Given the description of an element on the screen output the (x, y) to click on. 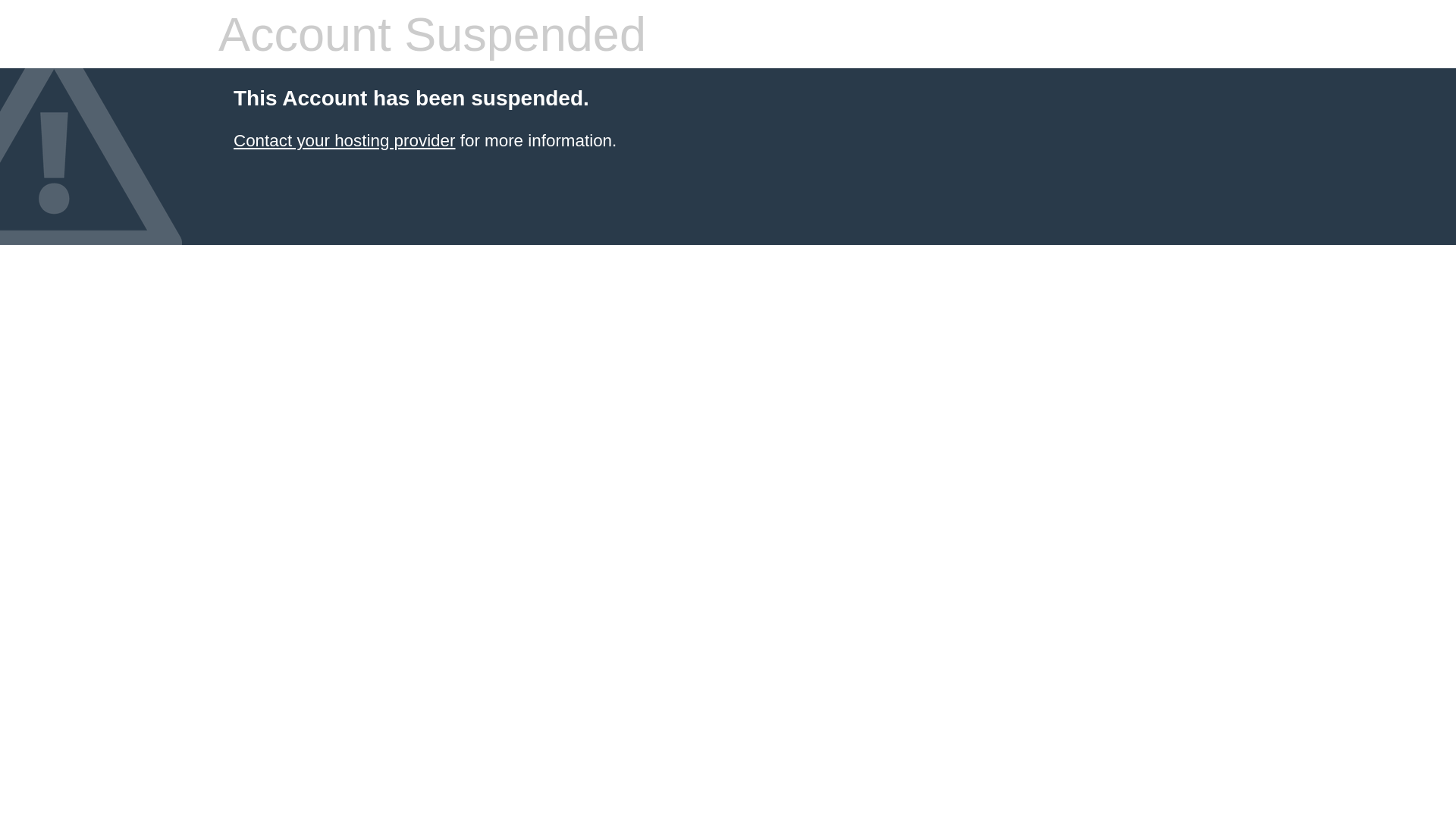
Contact your hosting provider Element type: text (344, 140)
